Given the description of an element on the screen output the (x, y) to click on. 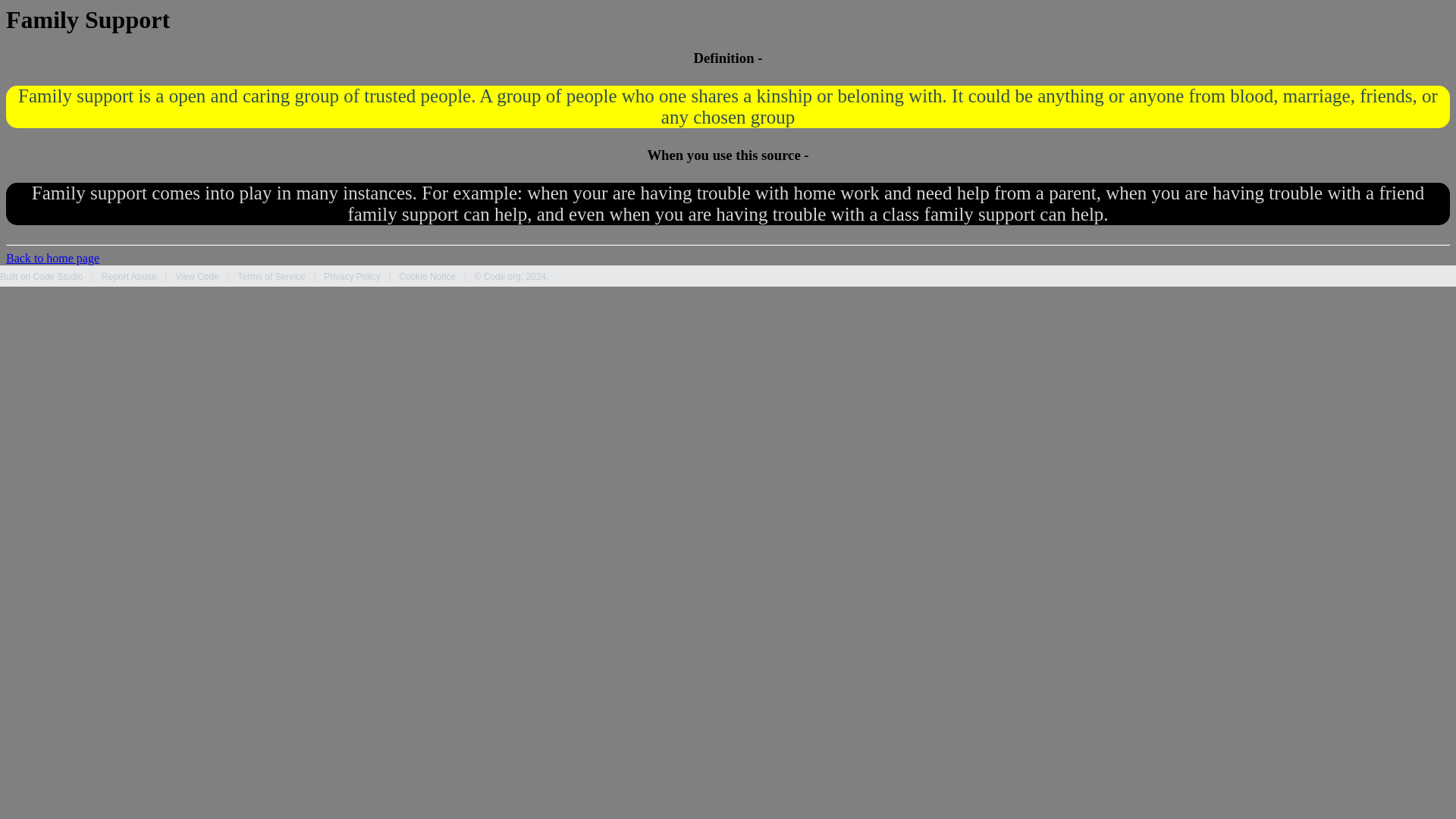
Terms of Service (270, 276)
Cookie Notice (426, 276)
Report Abuse (129, 276)
Privacy Policy (351, 276)
Built on Code Studio (41, 276)
View Code (196, 276)
Back to home page (52, 257)
